Given the description of an element on the screen output the (x, y) to click on. 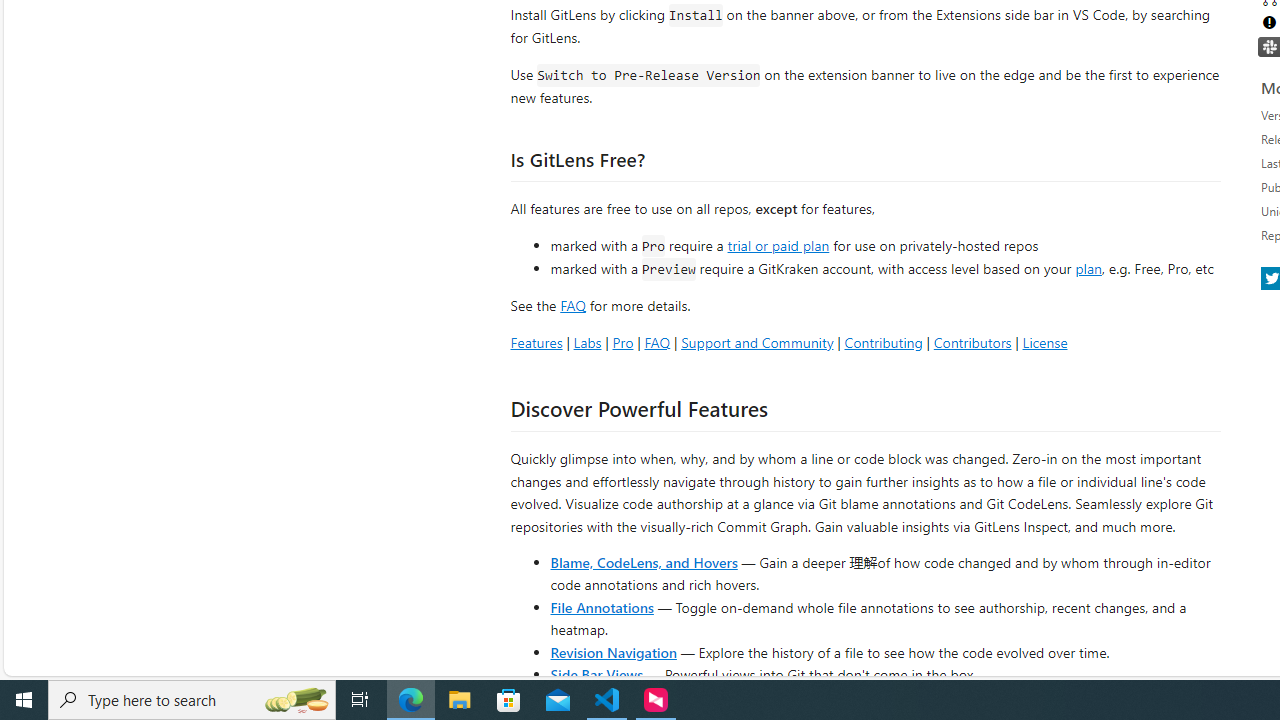
Contributors (972, 341)
plan (1088, 269)
trial or paid plan (778, 244)
Contributing (882, 341)
Revision Navigation (613, 651)
Blame, CodeLens, and Hovers (644, 561)
Side Bar Views (596, 673)
FAQ (656, 341)
License (1044, 341)
